Given the description of an element on the screen output the (x, y) to click on. 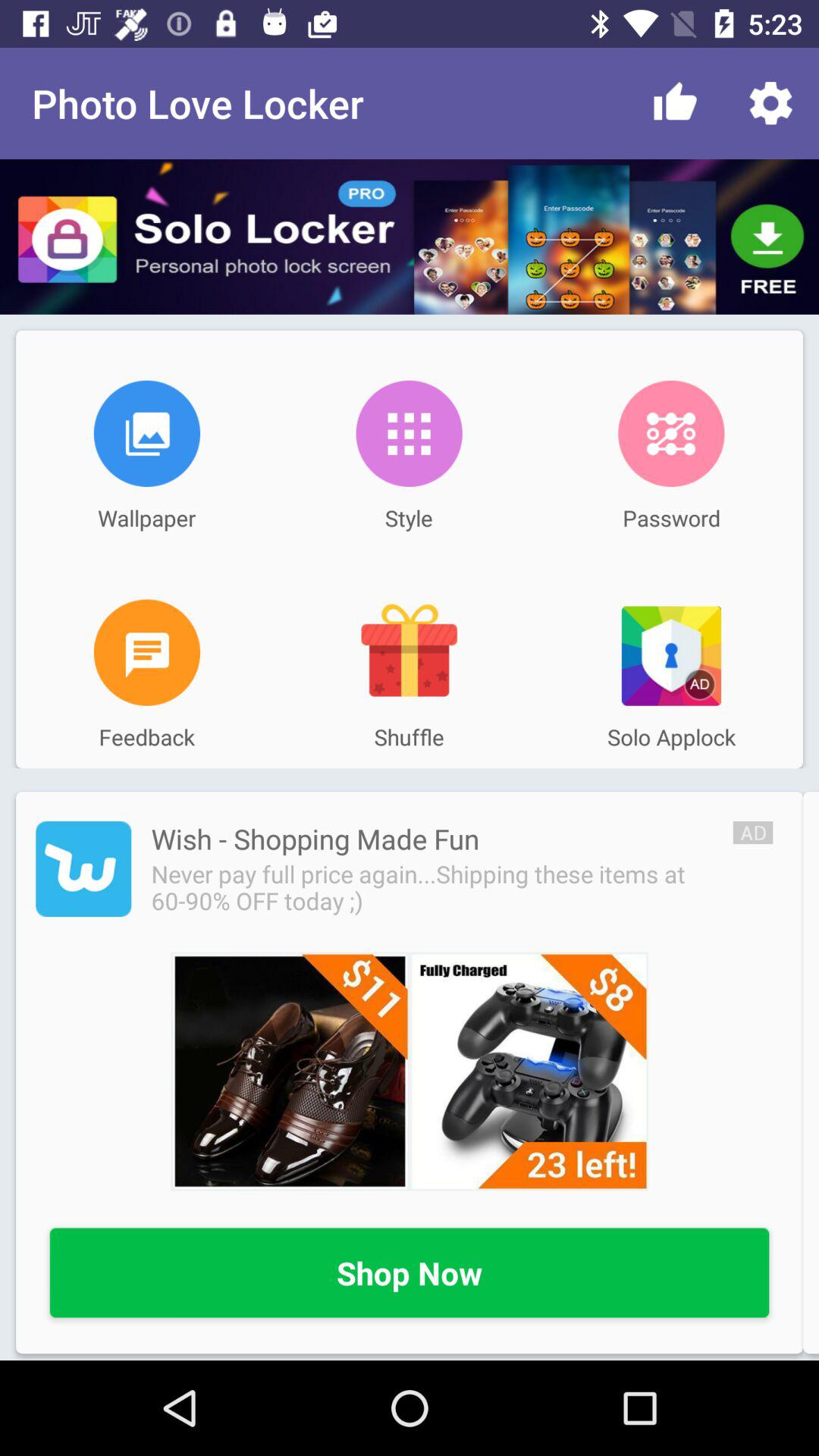
style menu (409, 433)
